Given the description of an element on the screen output the (x, y) to click on. 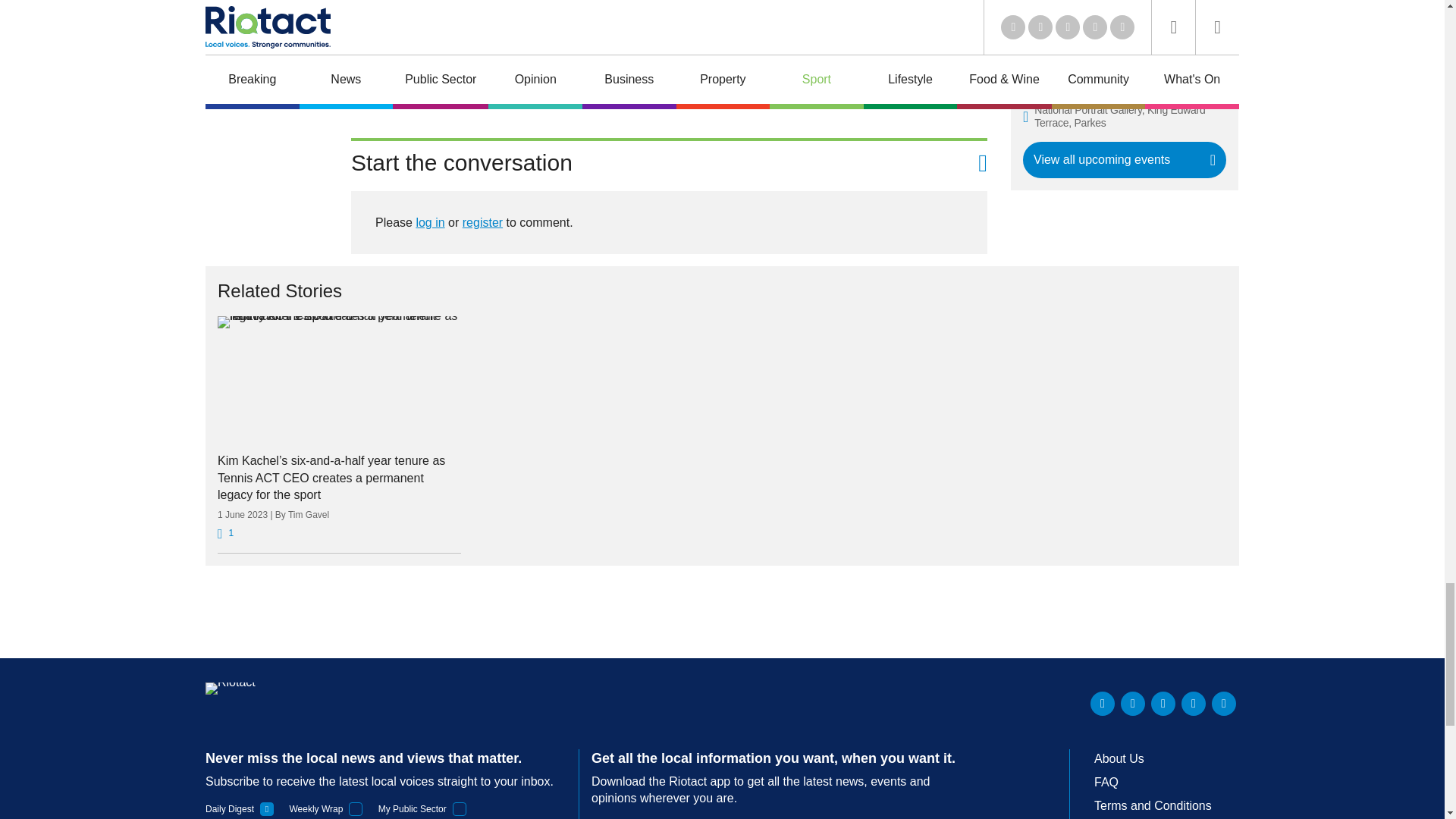
Twitter (1132, 703)
1 (266, 808)
LinkedIn (1102, 703)
1 (458, 808)
1 (355, 808)
